Given the description of an element on the screen output the (x, y) to click on. 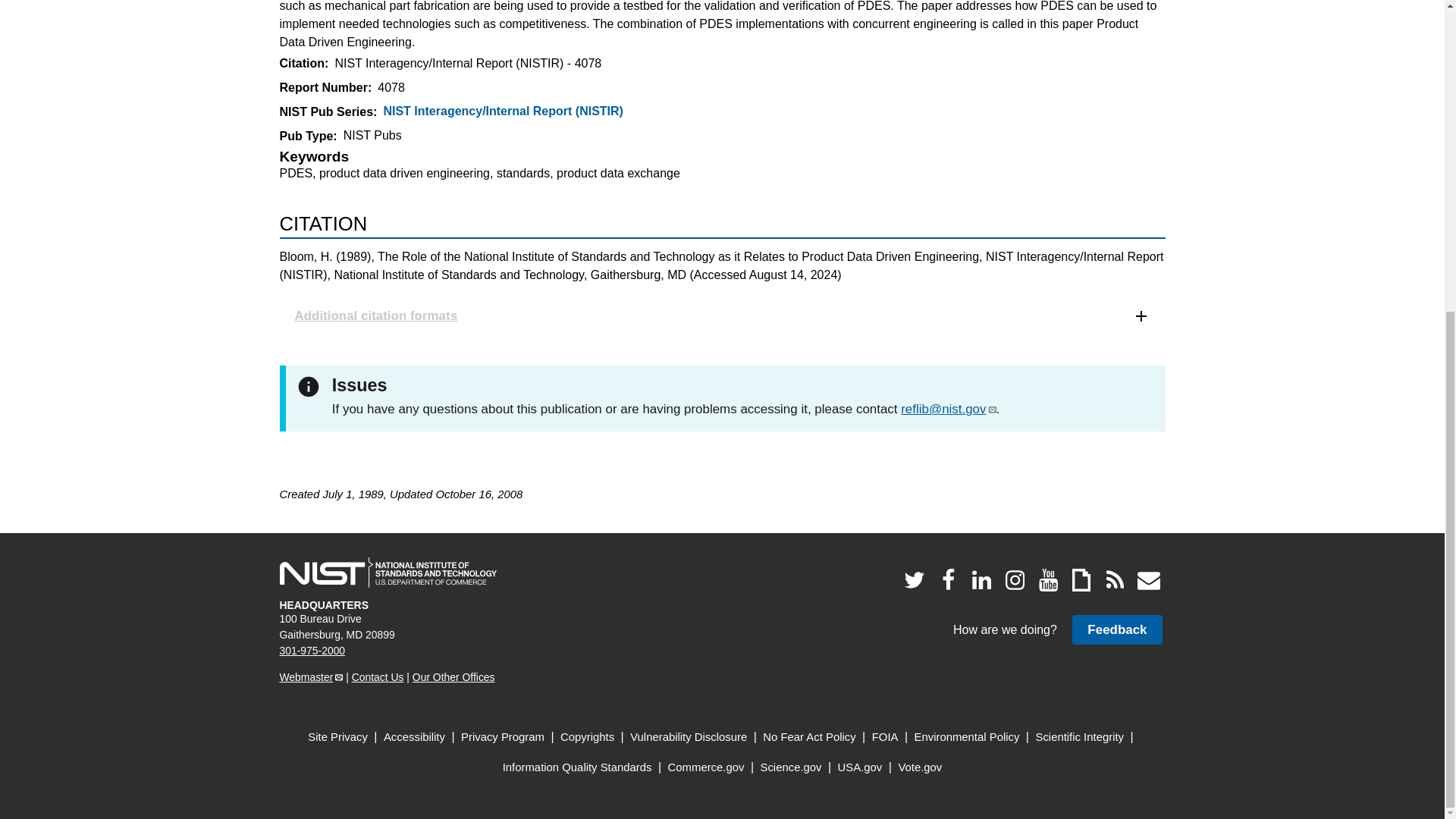
Environmental Policy (967, 736)
National Institute of Standards and Technology (387, 572)
Copyrights (587, 736)
Feedback (1116, 629)
Scientific Integrity (1079, 736)
Our Other Offices (453, 676)
Additional citation formats (721, 315)
Webmaster (310, 676)
301-975-2000 (312, 650)
Vulnerability Disclosure (688, 736)
